Given the description of an element on the screen output the (x, y) to click on. 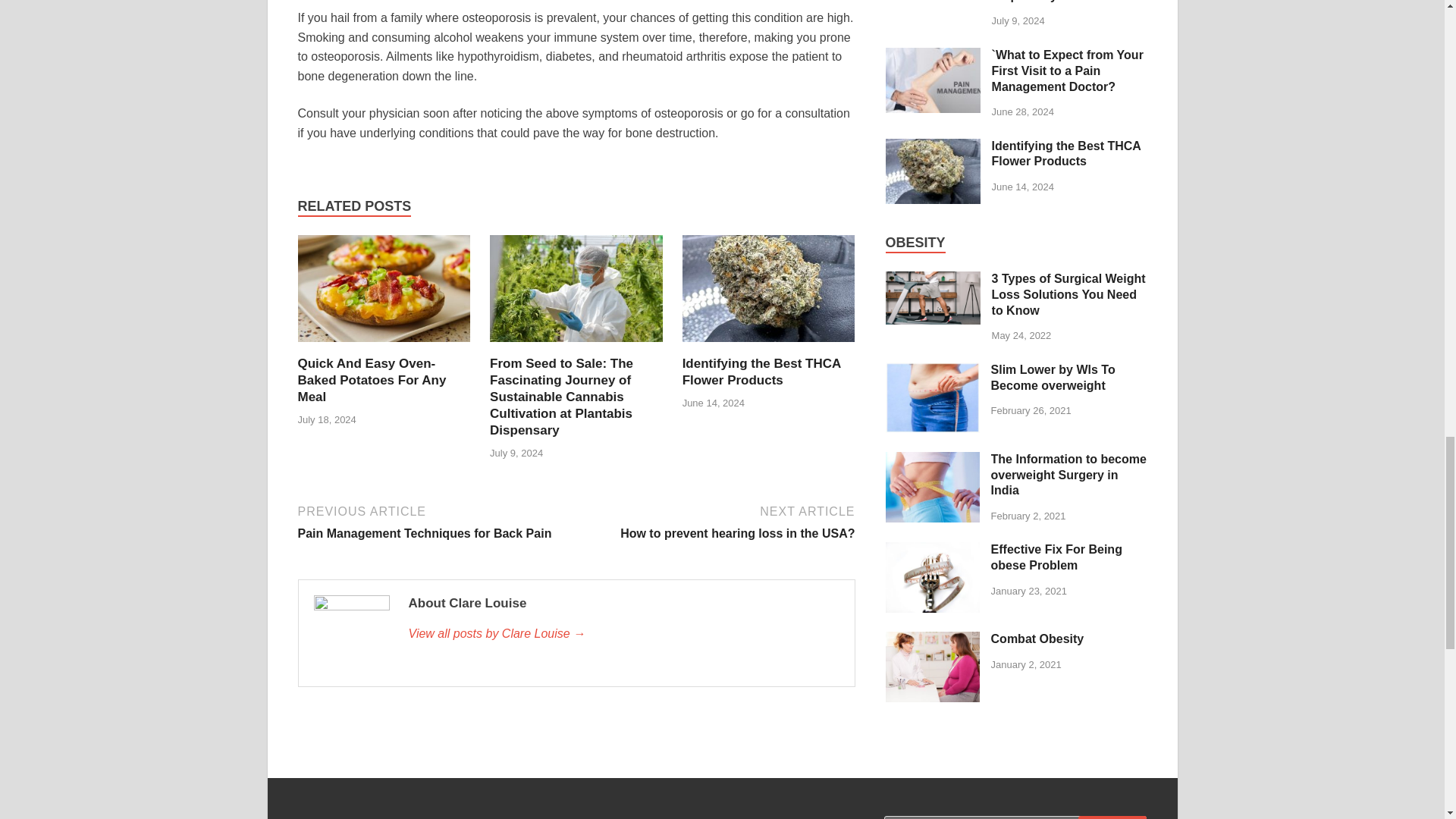
Clare Louise (622, 633)
Identifying the Best THCA Flower Products (717, 520)
Identifying the Best THCA Flower Products (761, 371)
Quick And Easy Oven-Baked Potatoes For Any Meal (761, 371)
Quick And Easy Oven-Baked Potatoes For Any Meal (434, 520)
Identifying the Best THCA Flower Products (383, 345)
Quick And Easy Oven-Baked Potatoes For Any Meal (371, 380)
Search (769, 345)
Search (371, 380)
